Given the description of an element on the screen output the (x, y) to click on. 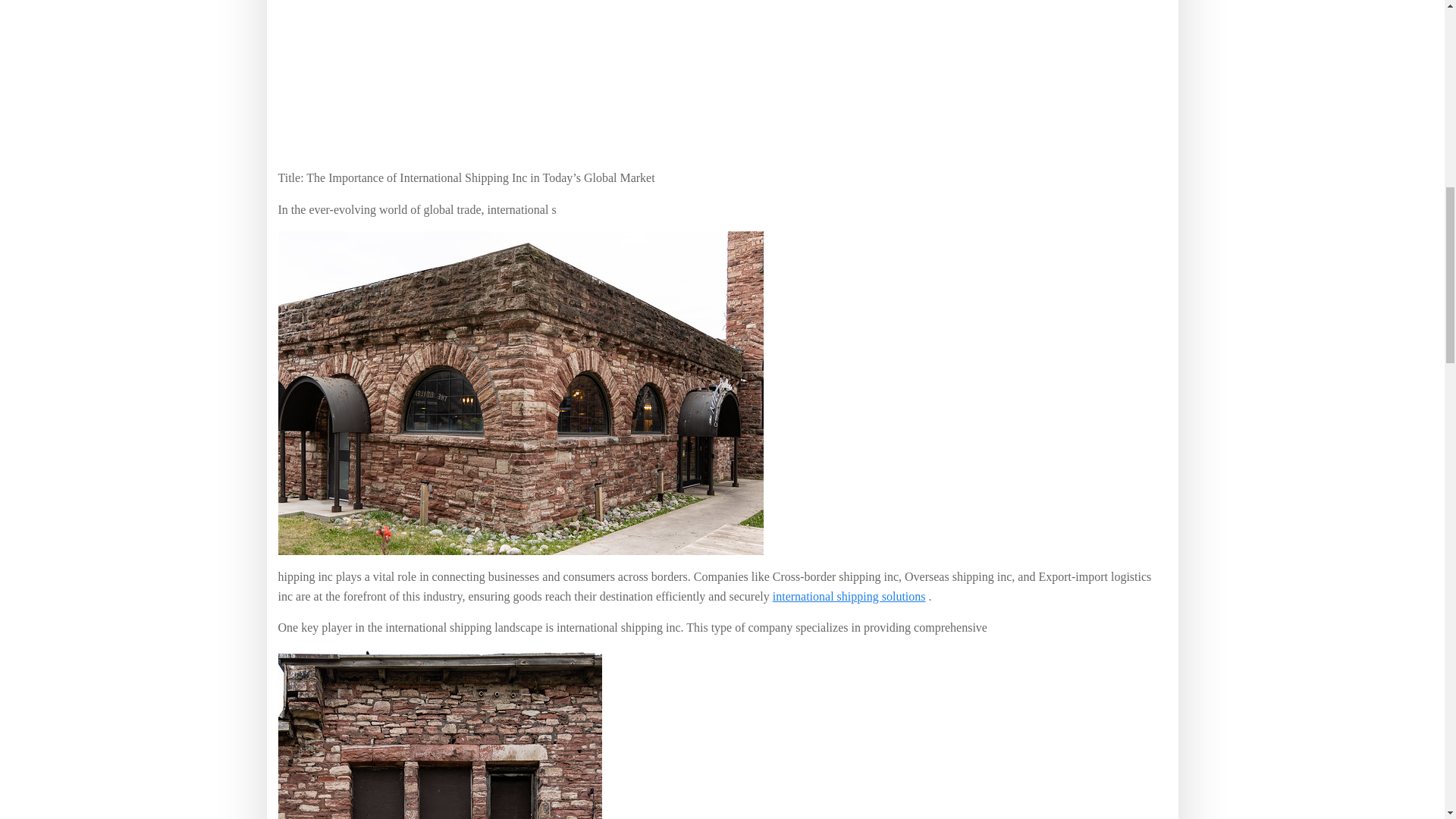
international shipping solutions (849, 595)
